Given the description of an element on the screen output the (x, y) to click on. 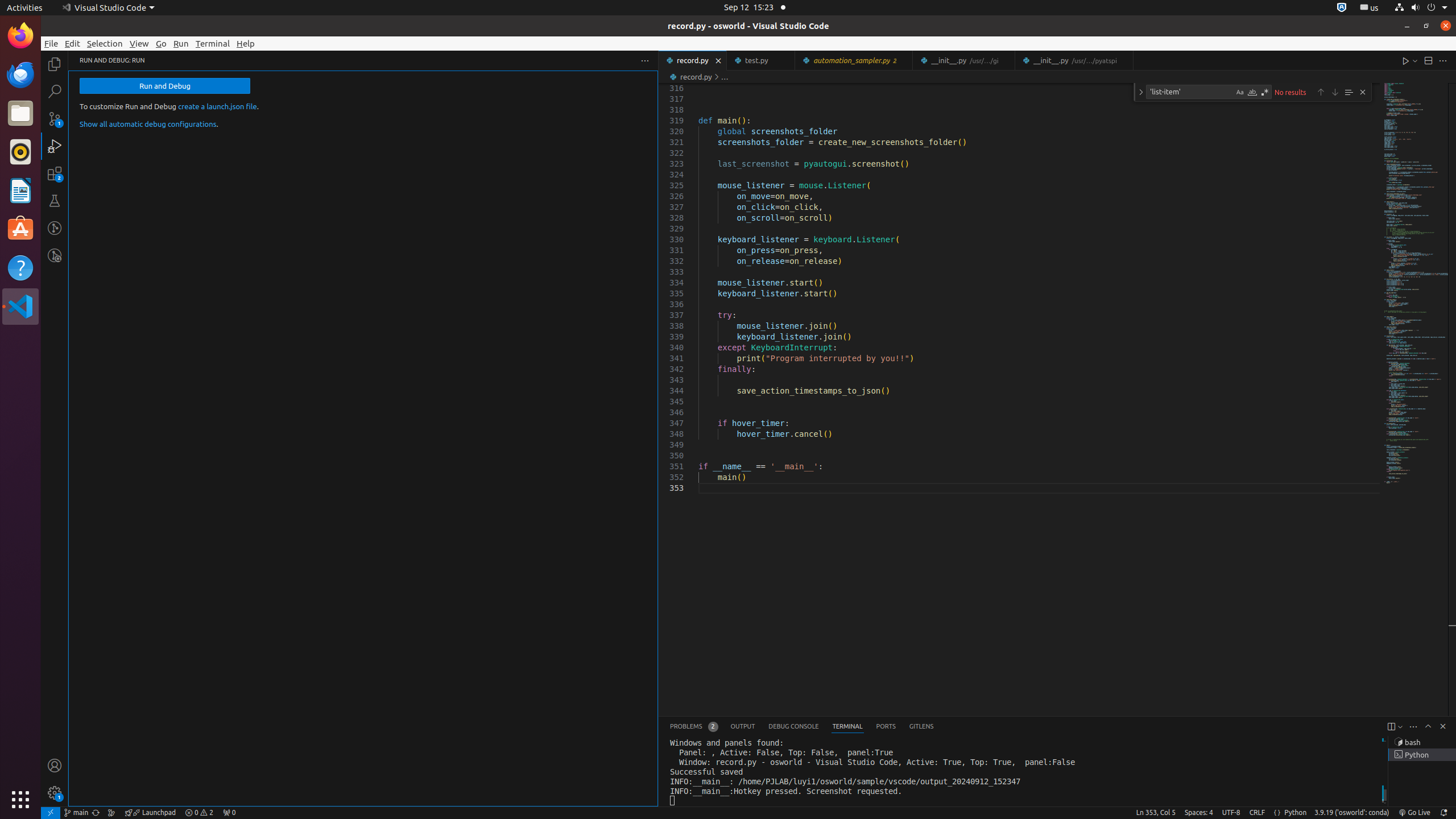
Python Element type: push-button (1295, 812)
Match Case (Alt+C) Element type: check-box (1239, 91)
Explorer (Ctrl+Shift+E) Element type: page-tab (54, 63)
Spaces: 4 Element type: push-button (1198, 812)
Manage - New Code update available. Element type: push-button (54, 792)
